Given the description of an element on the screen output the (x, y) to click on. 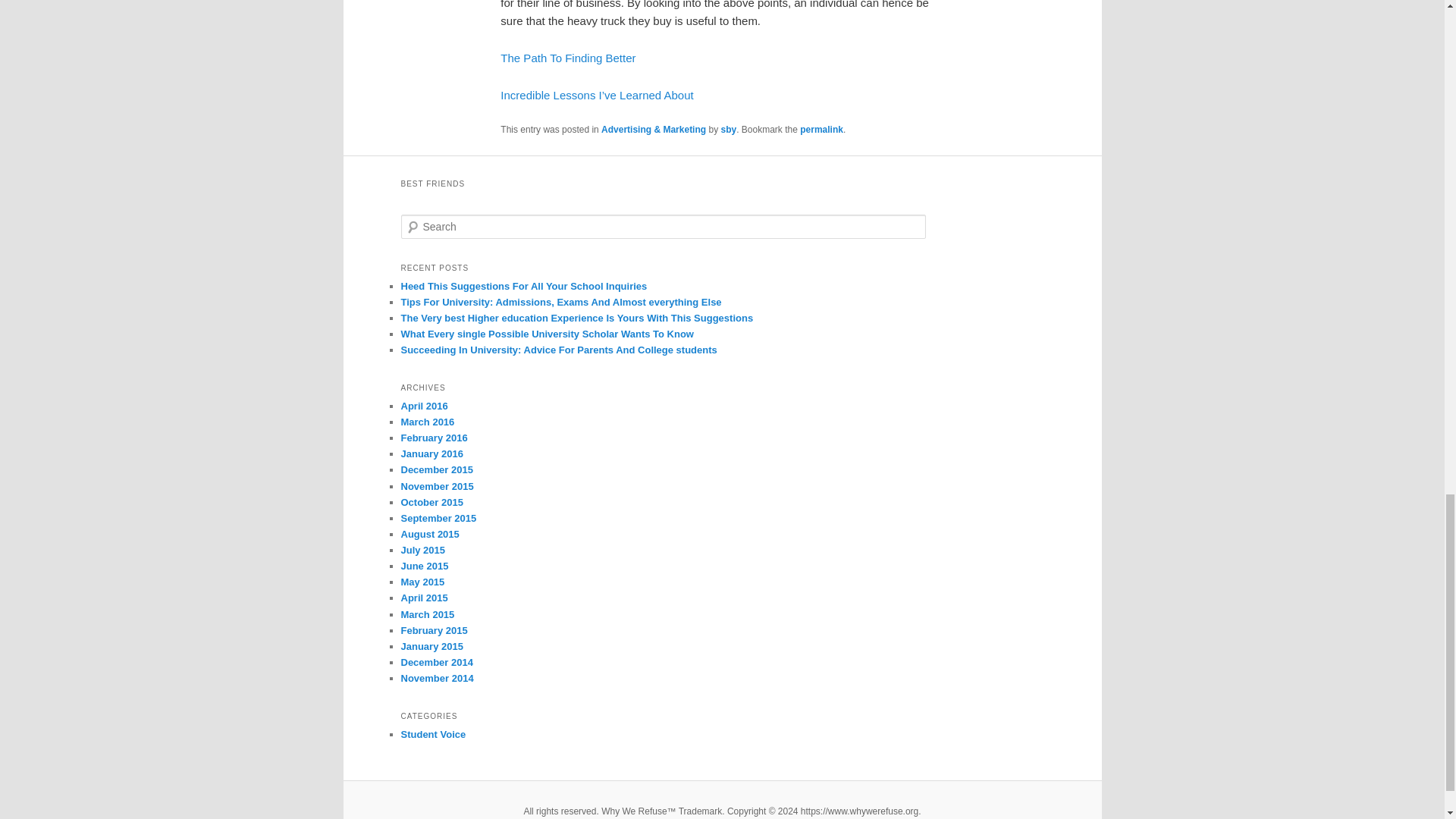
August 2015 (429, 533)
September 2015 (438, 518)
November 2015 (436, 486)
March 2016 (427, 421)
The Path To Finding Better (567, 57)
May 2015 (422, 582)
December 2015 (435, 469)
January 2016 (431, 453)
